Given the description of an element on the screen output the (x, y) to click on. 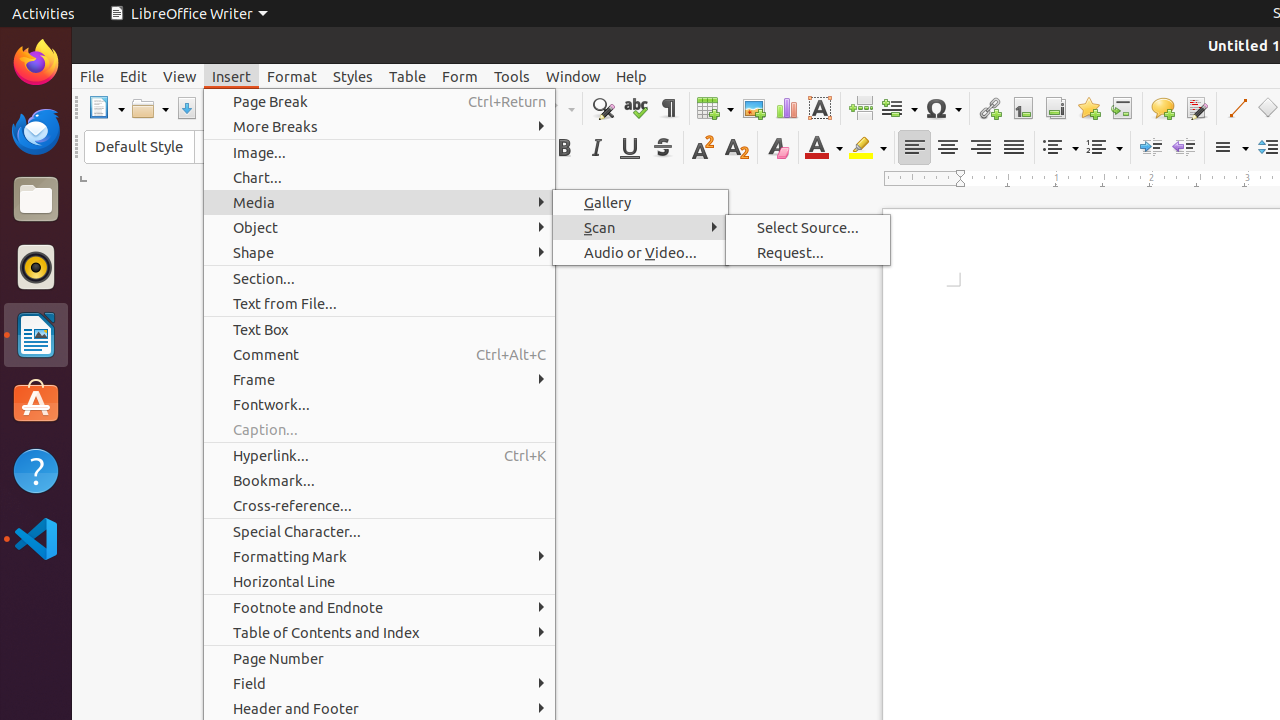
Superscript Element type: toggle-button (703, 147)
Table Element type: push-button (715, 108)
Formatting Marks Element type: toggle-button (668, 108)
Styles Element type: menu (353, 76)
Rhythmbox Element type: push-button (36, 267)
